Given the description of an element on the screen output the (x, y) to click on. 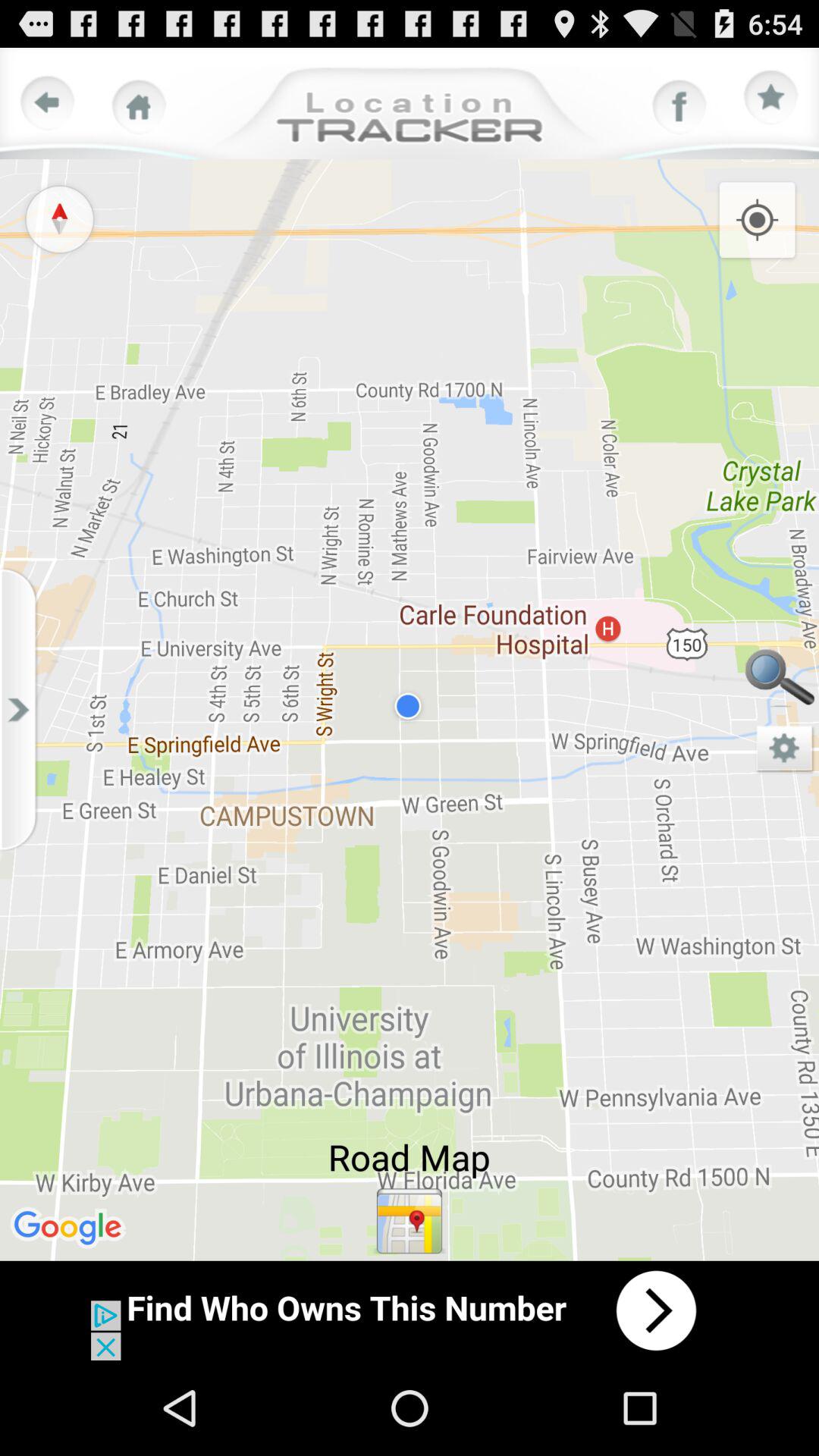
click on advertisements (409, 1310)
